Given the description of an element on the screen output the (x, y) to click on. 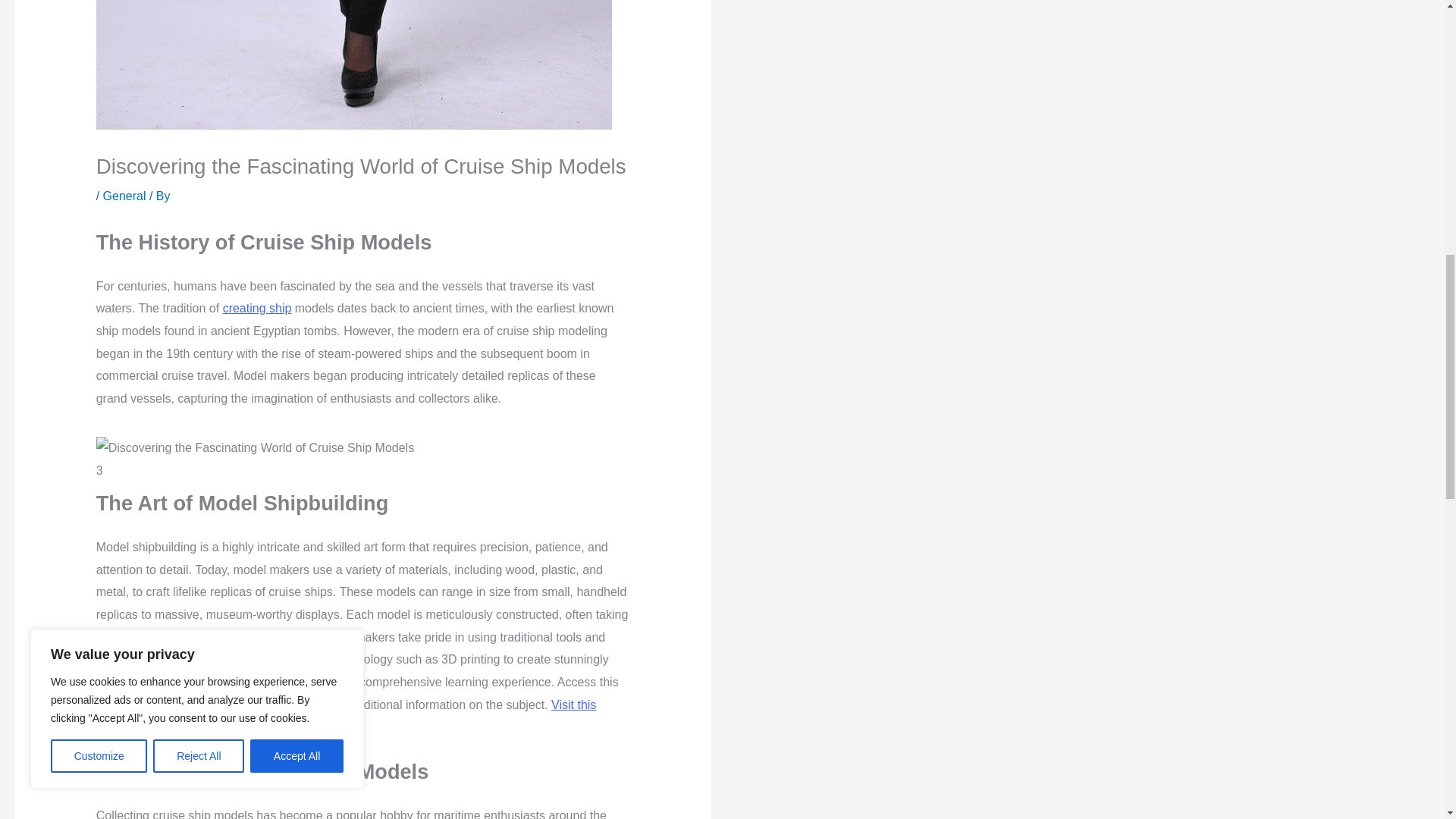
General (125, 195)
Visit this useful source (346, 715)
creating ship (257, 308)
